Given the description of an element on the screen output the (x, y) to click on. 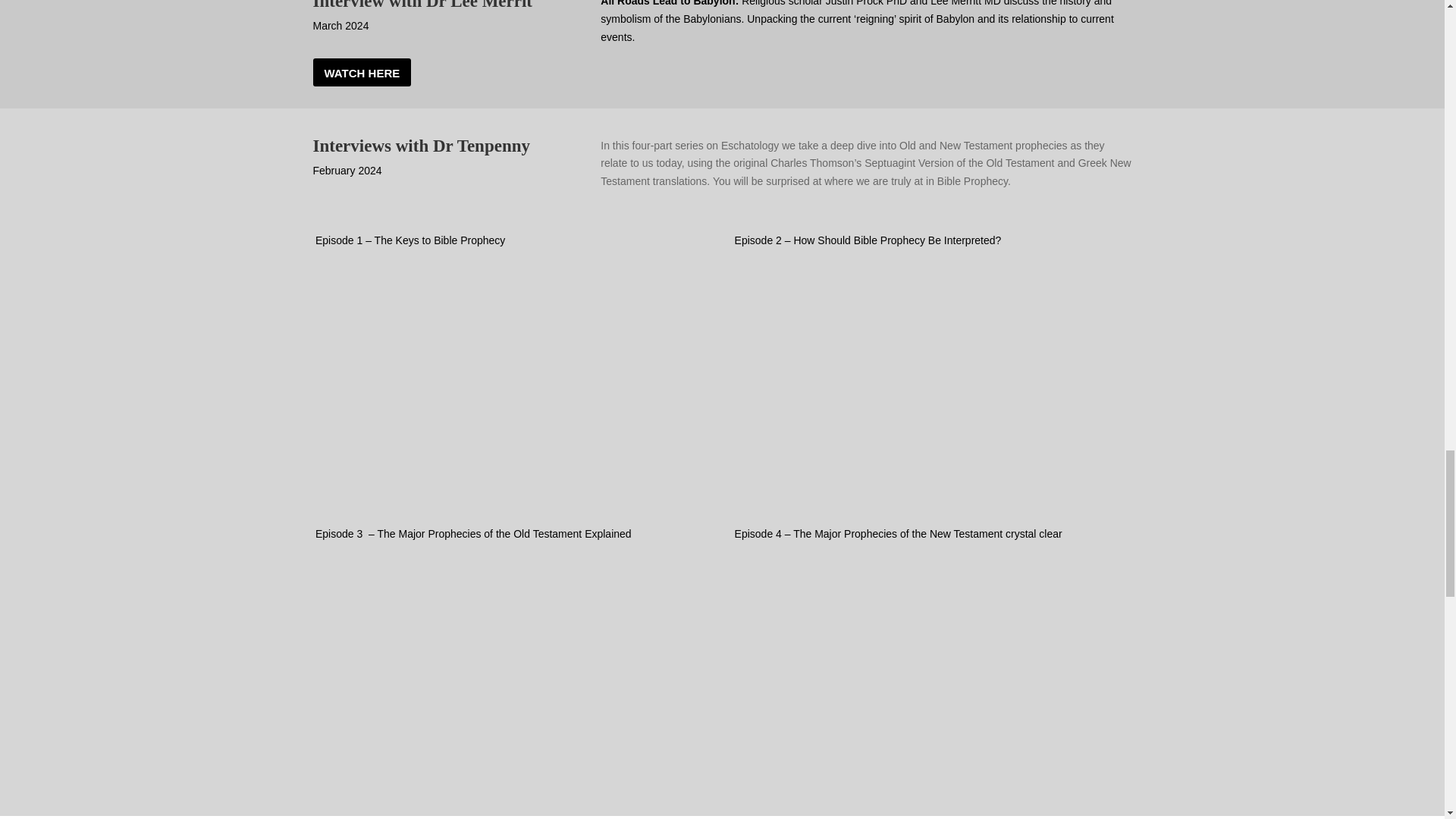
YouTube video player (512, 667)
YouTube video player (512, 373)
YouTube video player (932, 373)
YouTube video player (932, 667)
